Given the description of an element on the screen output the (x, y) to click on. 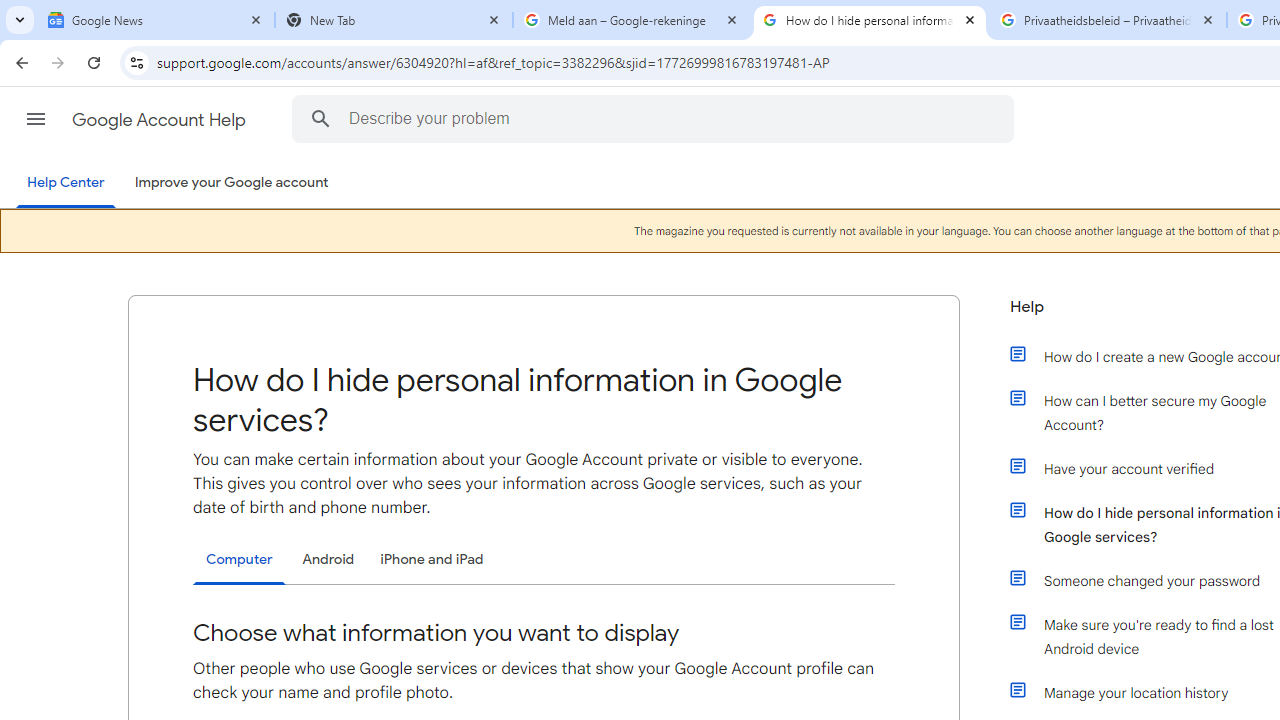
New Tab (394, 20)
Computer (239, 559)
Google News (156, 20)
Search the Help Center (320, 118)
Android (328, 559)
Help Center (65, 183)
Main menu (35, 119)
